Given the description of an element on the screen output the (x, y) to click on. 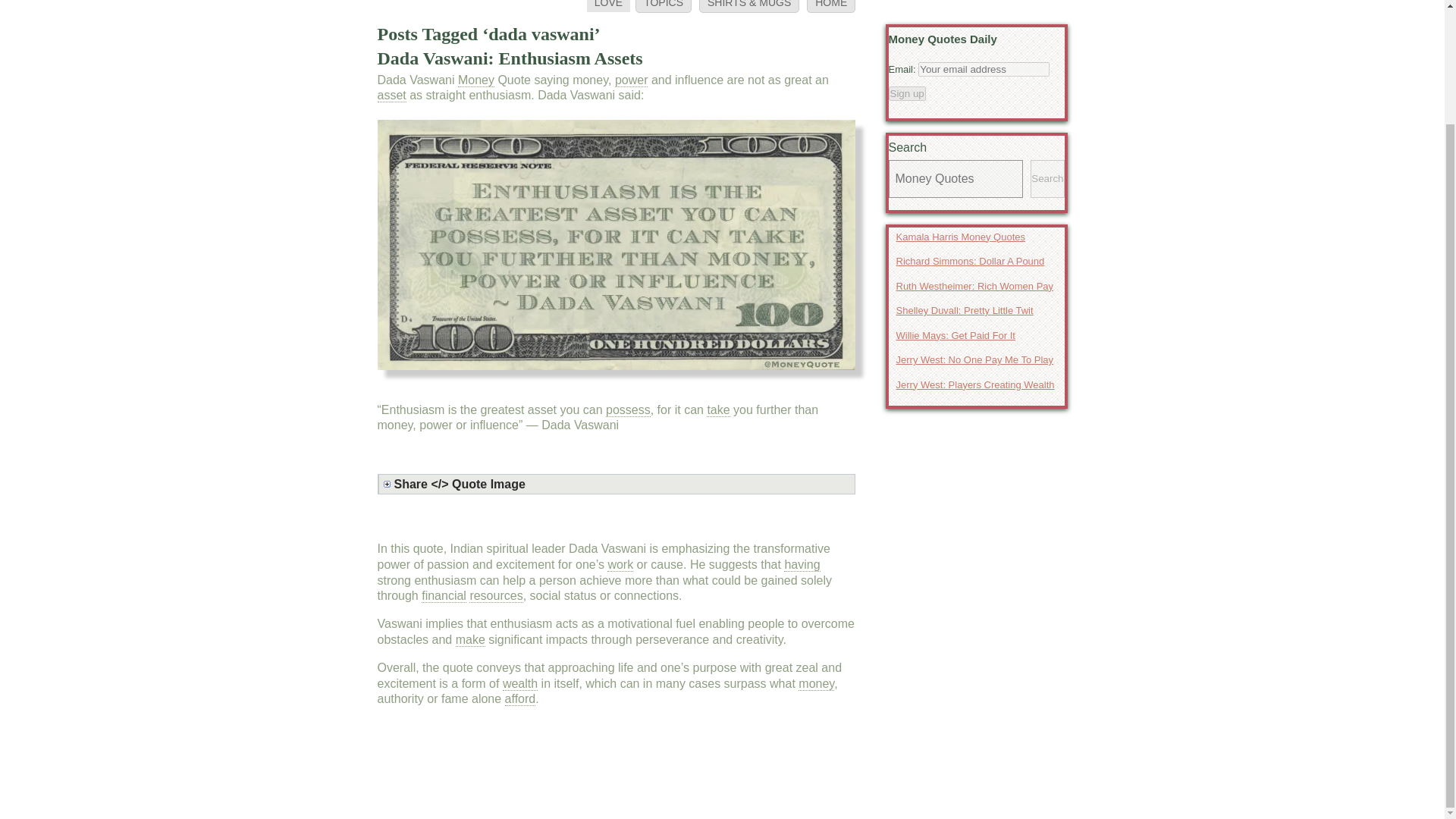
TOPICS (662, 6)
power (630, 79)
LOVE (608, 6)
take (717, 409)
work (620, 564)
Jerry West: No One Pay Me To Play (976, 360)
Jerry West: Players Creating Wealth (976, 384)
Ruth Westheimer: Rich Women Pay (976, 286)
Kamala Harris Money Quotes (976, 236)
Richard Simmons: Dollar A Pound (976, 261)
Permanent link to Dada Vaswani: Enthusiasm Assets (510, 57)
Willie Mays: Get Paid For It (976, 334)
Dada Vaswani: Enthusiasm Assets (510, 57)
possess (627, 409)
Money (476, 79)
